Given the description of an element on the screen output the (x, y) to click on. 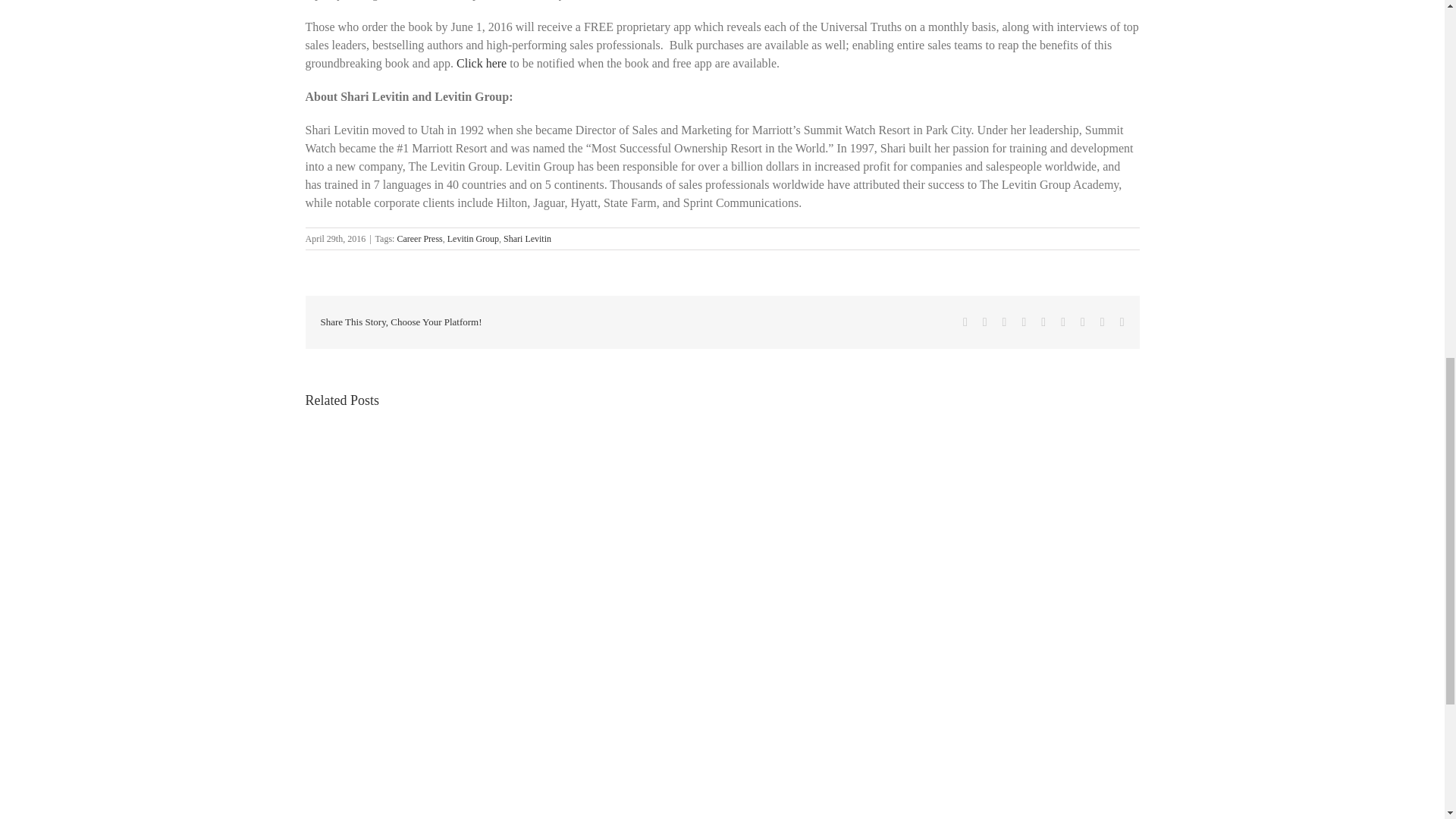
Shari Levitin (527, 238)
Career Press (419, 238)
Click here (481, 62)
Levitin Group (472, 238)
